Given the description of an element on the screen output the (x, y) to click on. 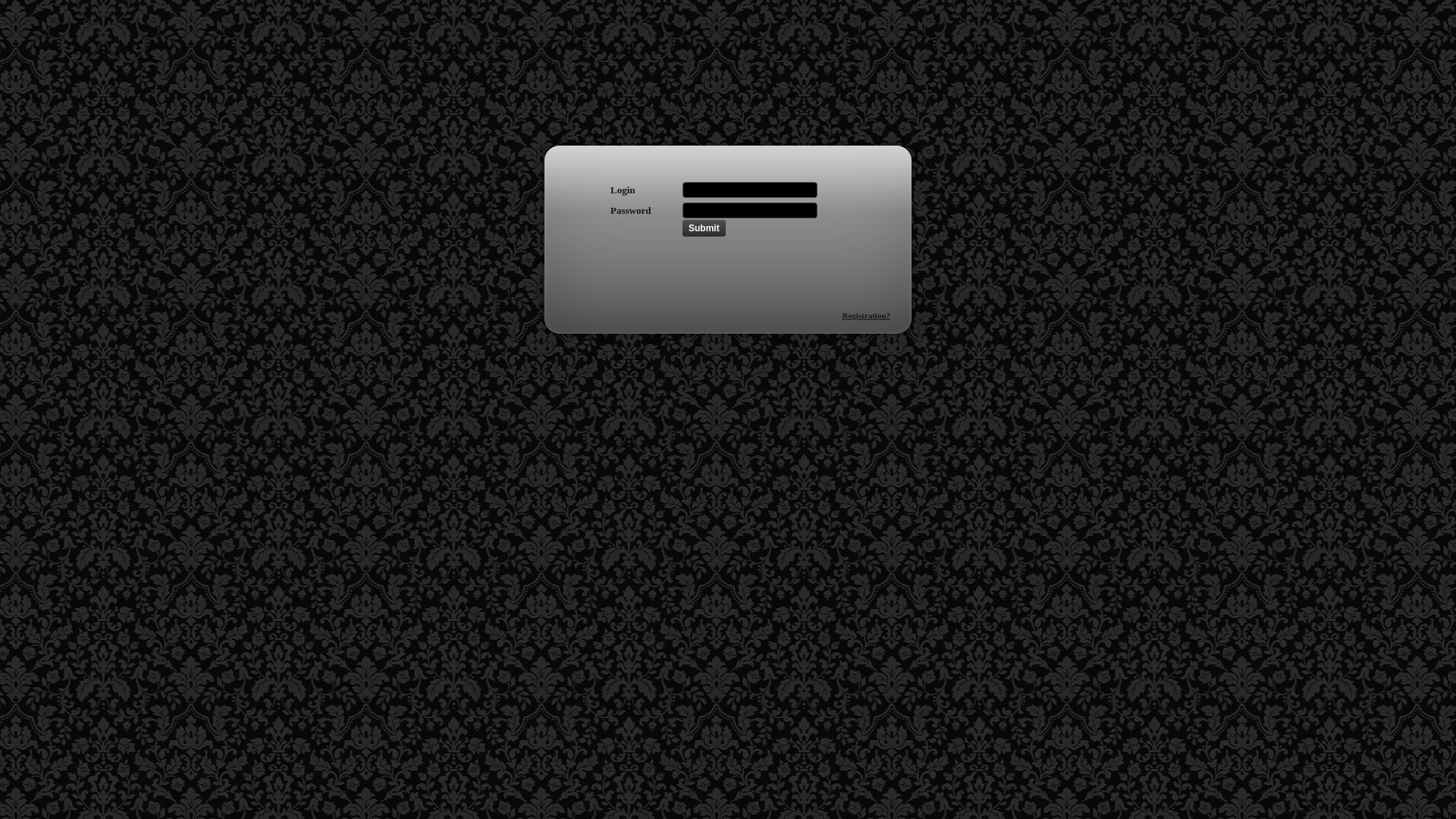
Registration? Element type: text (865, 315)
Submit Element type: text (703, 227)
